Given the description of an element on the screen output the (x, y) to click on. 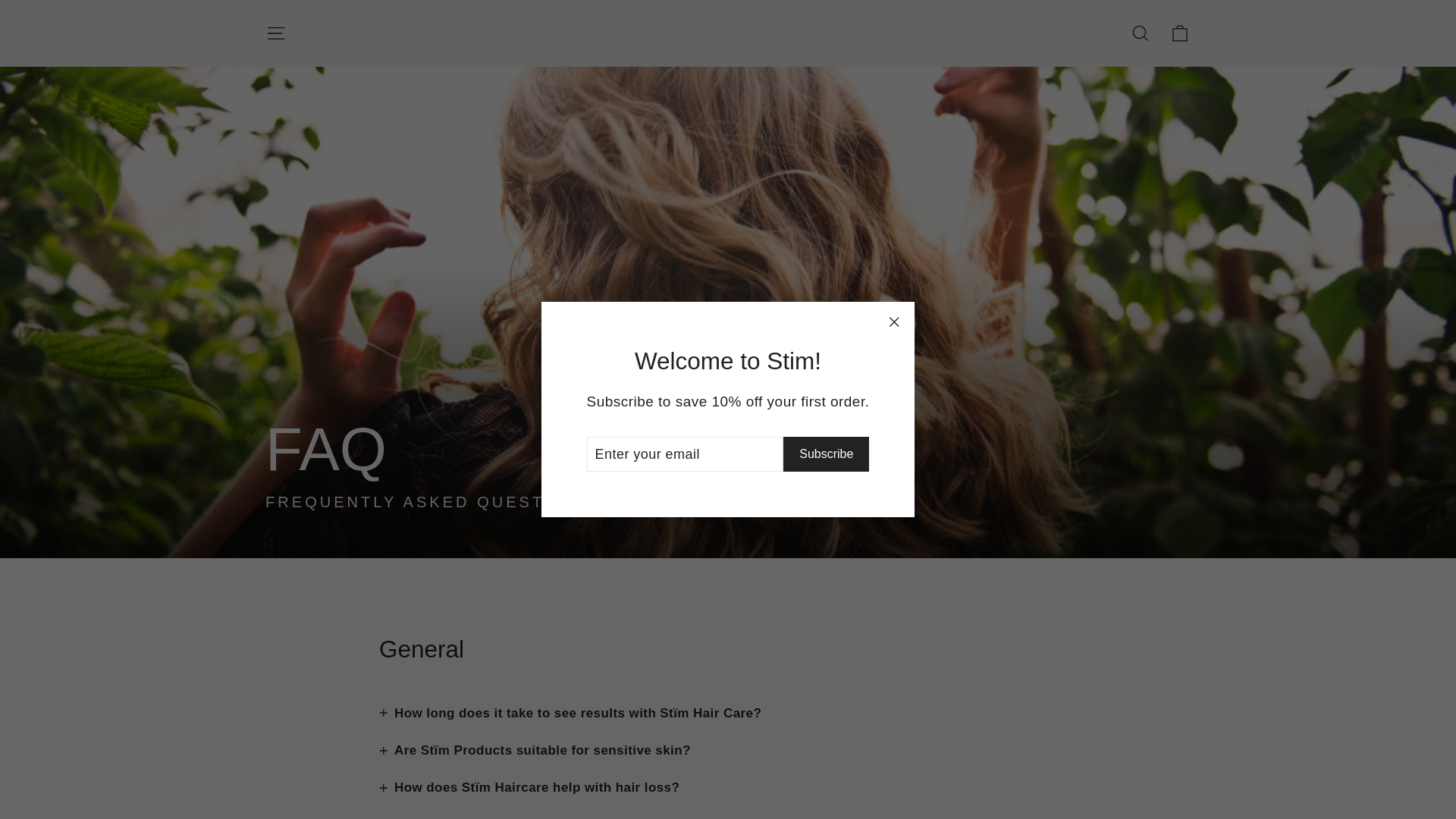
Search (1140, 33)
Subscribe (826, 454)
Site navigation (275, 33)
Cart (1179, 33)
